Given the description of an element on the screen output the (x, y) to click on. 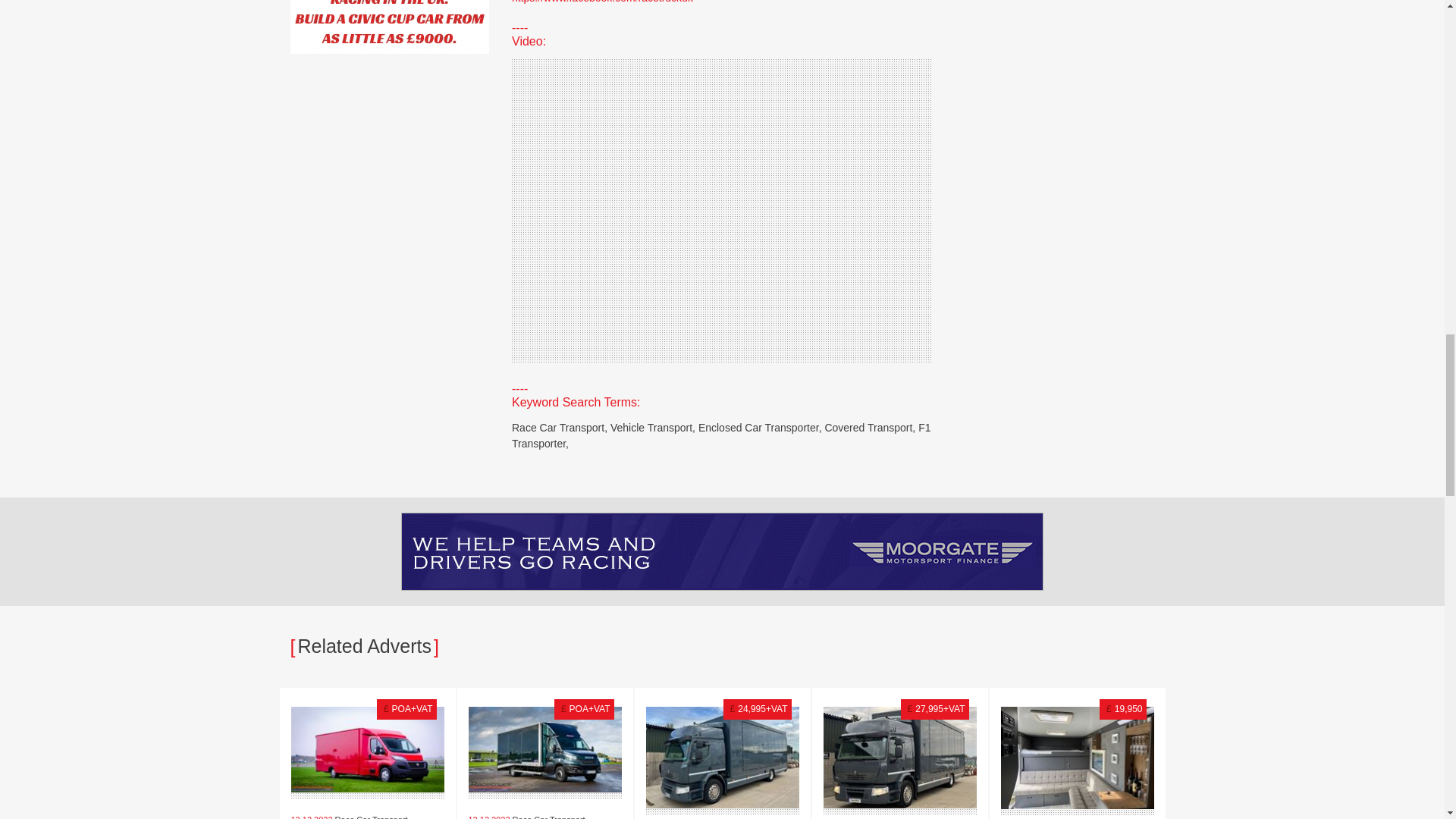
MoorgateFinance (722, 551)
Civic Cup (389, 27)
